Given the description of an element on the screen output the (x, y) to click on. 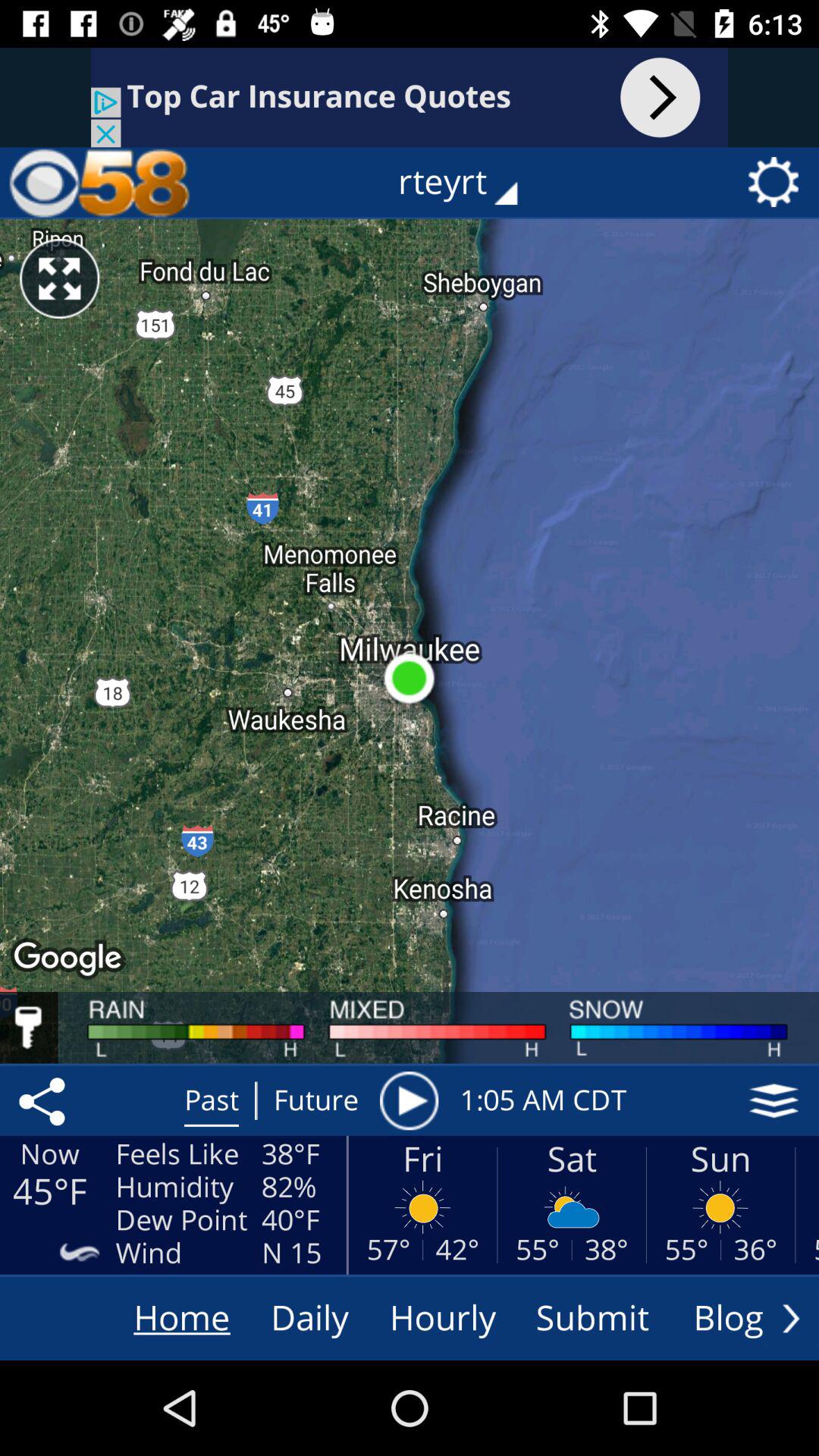
play weather timeline (409, 1100)
